Given the description of an element on the screen output the (x, y) to click on. 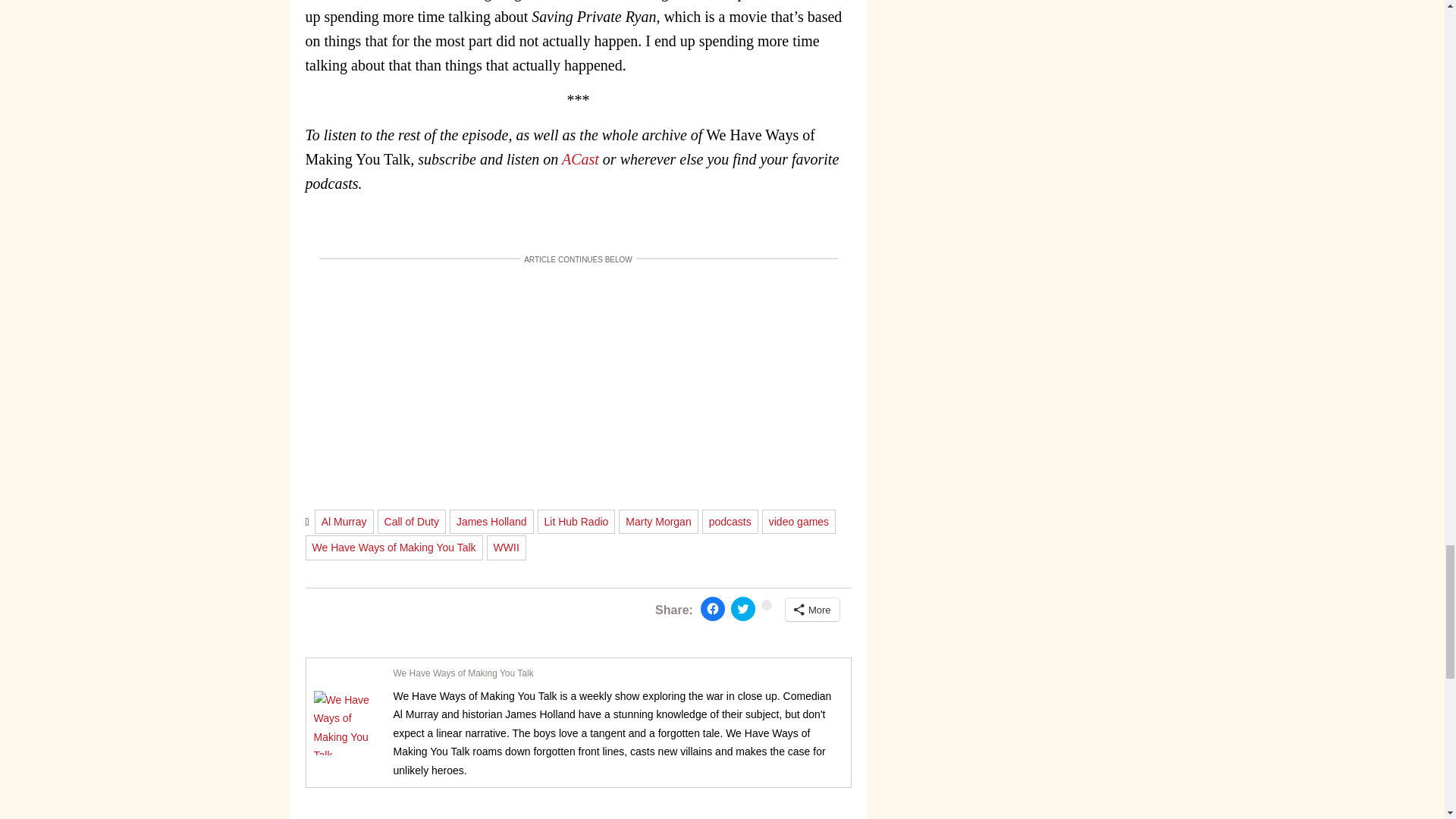
Click to share on Twitter (742, 608)
Share on Facebook (712, 608)
